Given the description of an element on the screen output the (x, y) to click on. 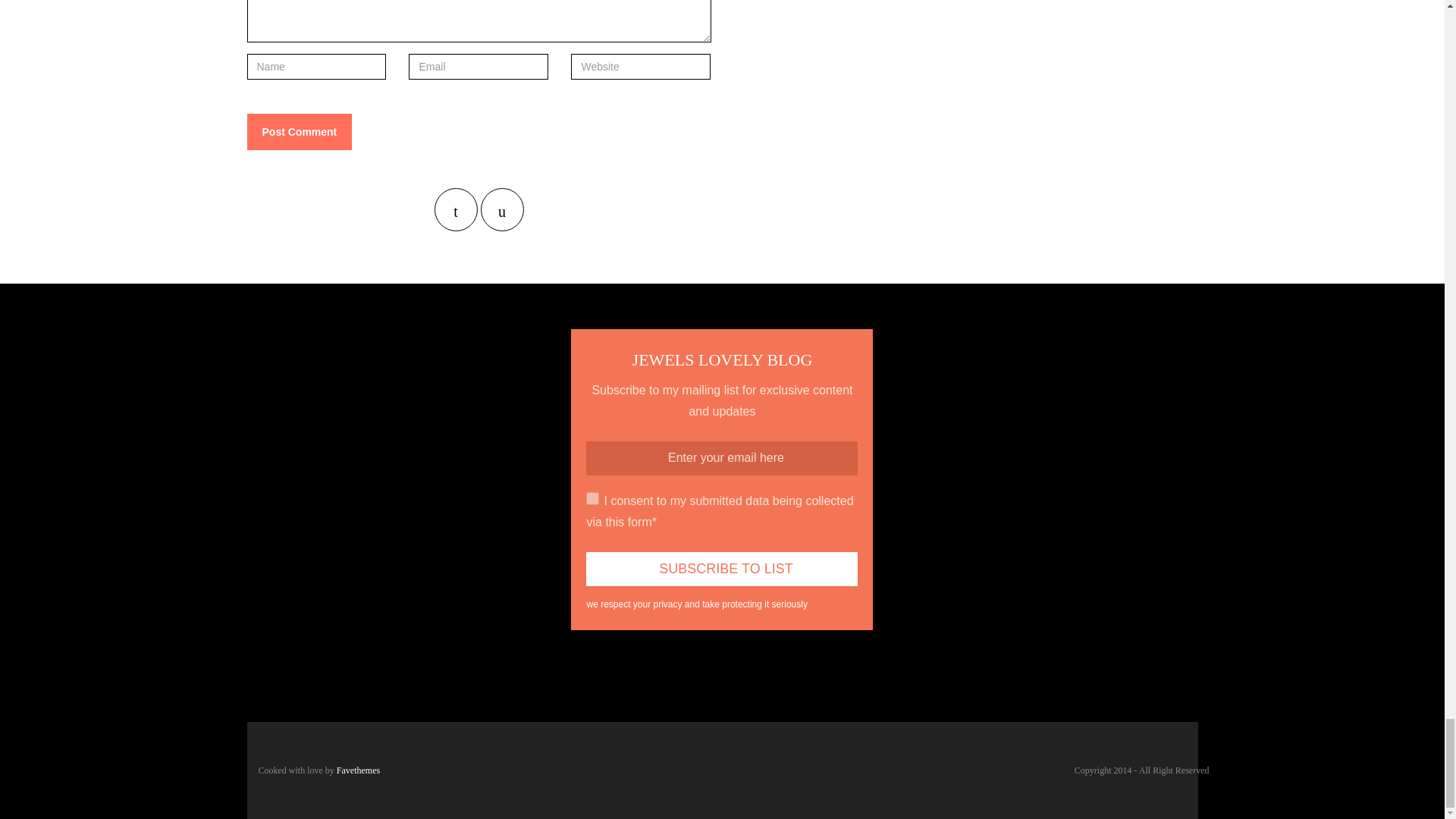
on (592, 498)
Post Comment (299, 131)
Subscribe to List (721, 569)
